Given the description of an element on the screen output the (x, y) to click on. 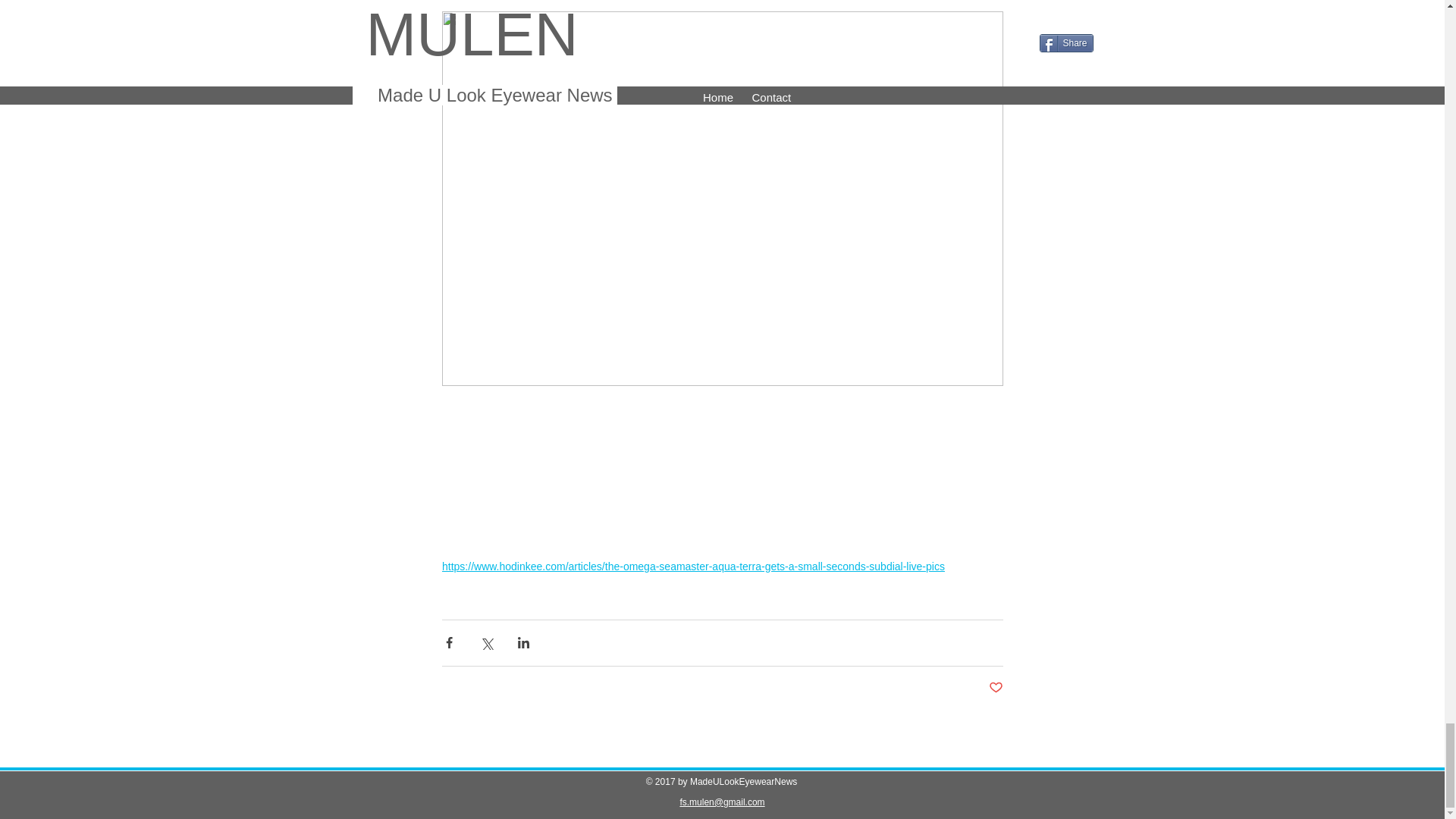
Post not marked as liked (995, 688)
